Given the description of an element on the screen output the (x, y) to click on. 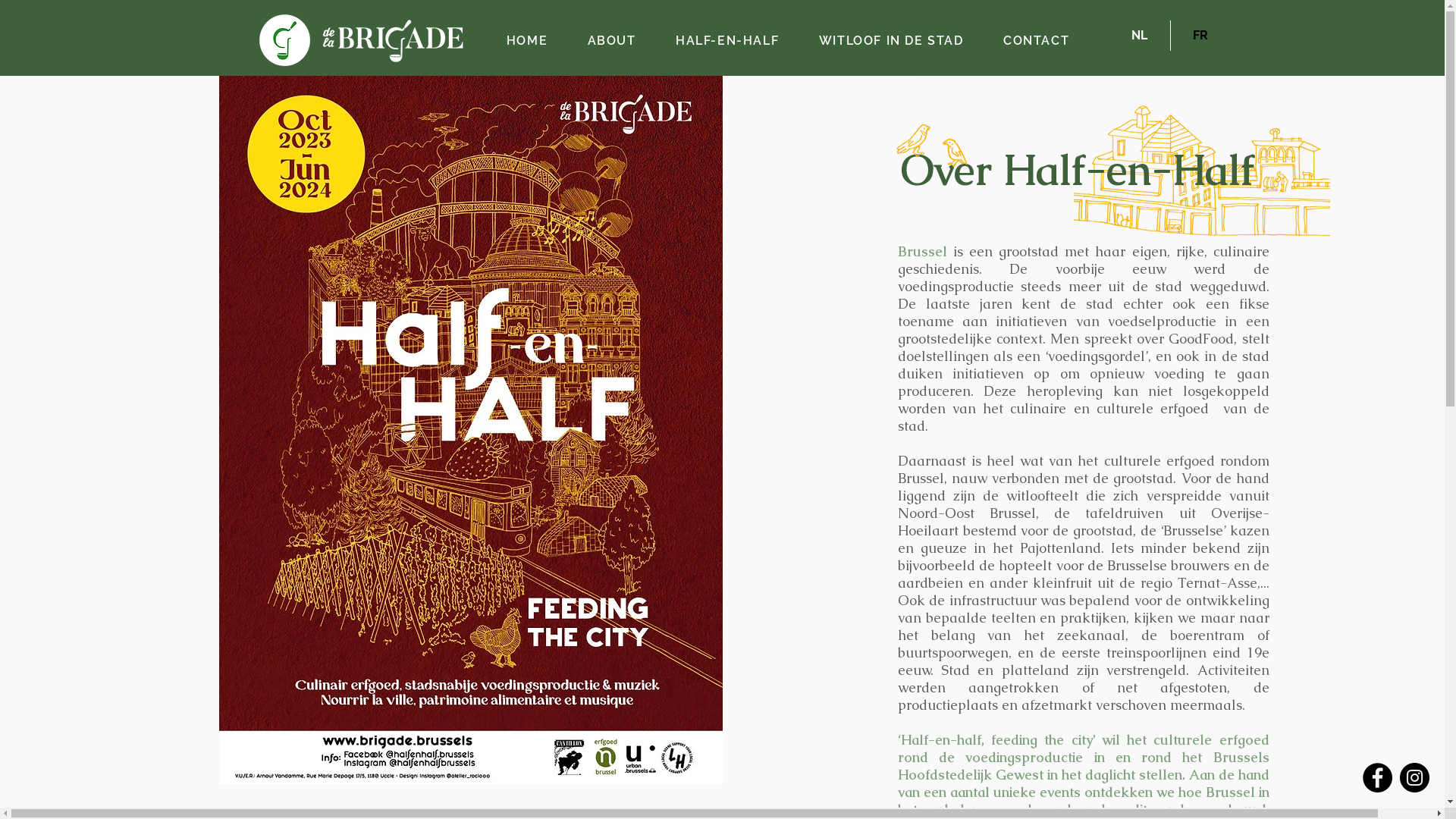
ABOUT Element type: text (611, 40)
WITLOOF IN DE STAD Element type: text (891, 40)
HALF-EN-HALF Element type: text (727, 40)
CONTACT Element type: text (1036, 40)
FR Element type: text (1199, 35)
NL Element type: text (1138, 35)
HOME Element type: text (526, 40)
